Given the description of an element on the screen output the (x, y) to click on. 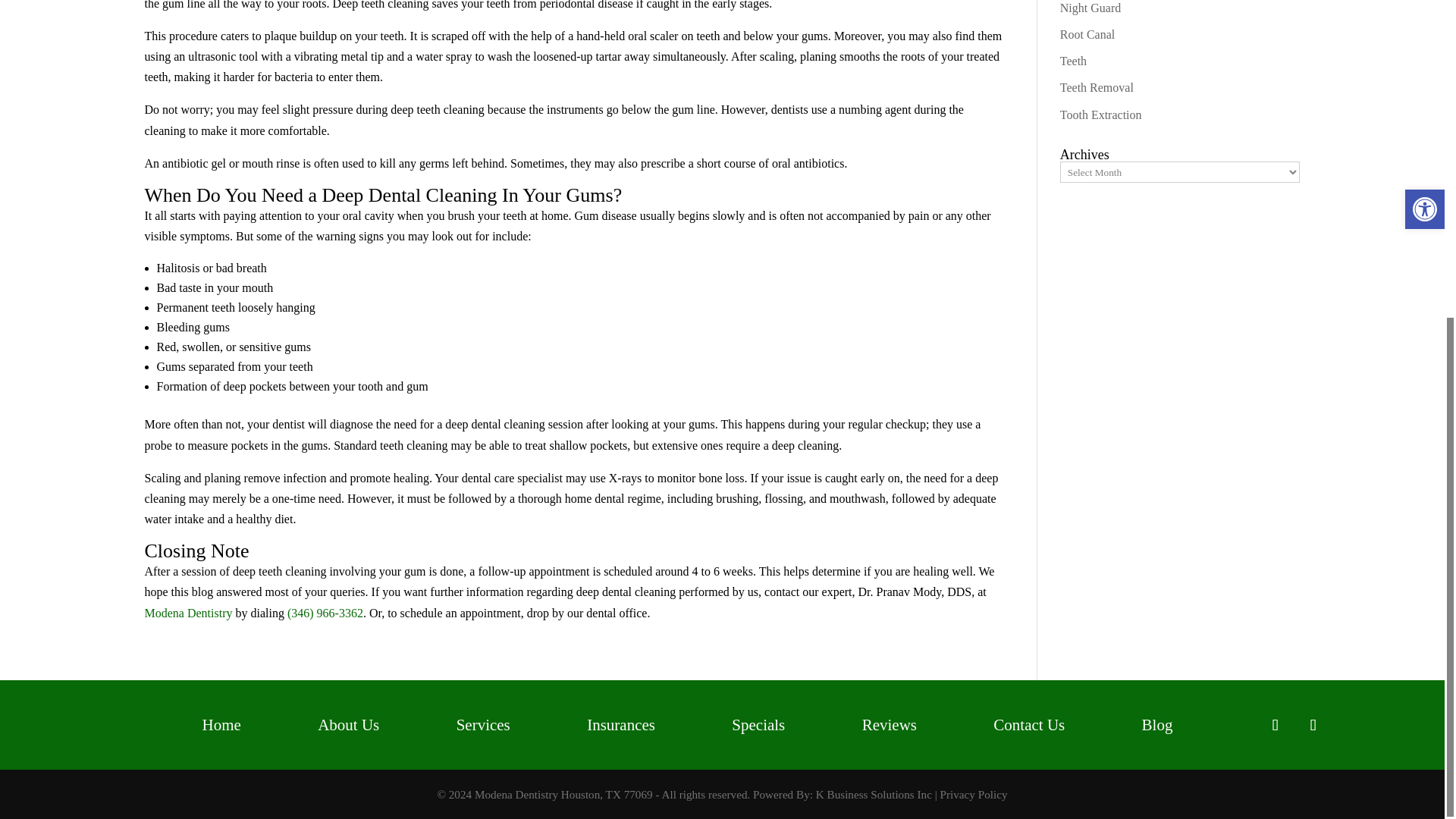
Follow on Instagram (1312, 725)
Follow on Facebook (1274, 725)
Modena Dentistry (187, 612)
